Given the description of an element on the screen output the (x, y) to click on. 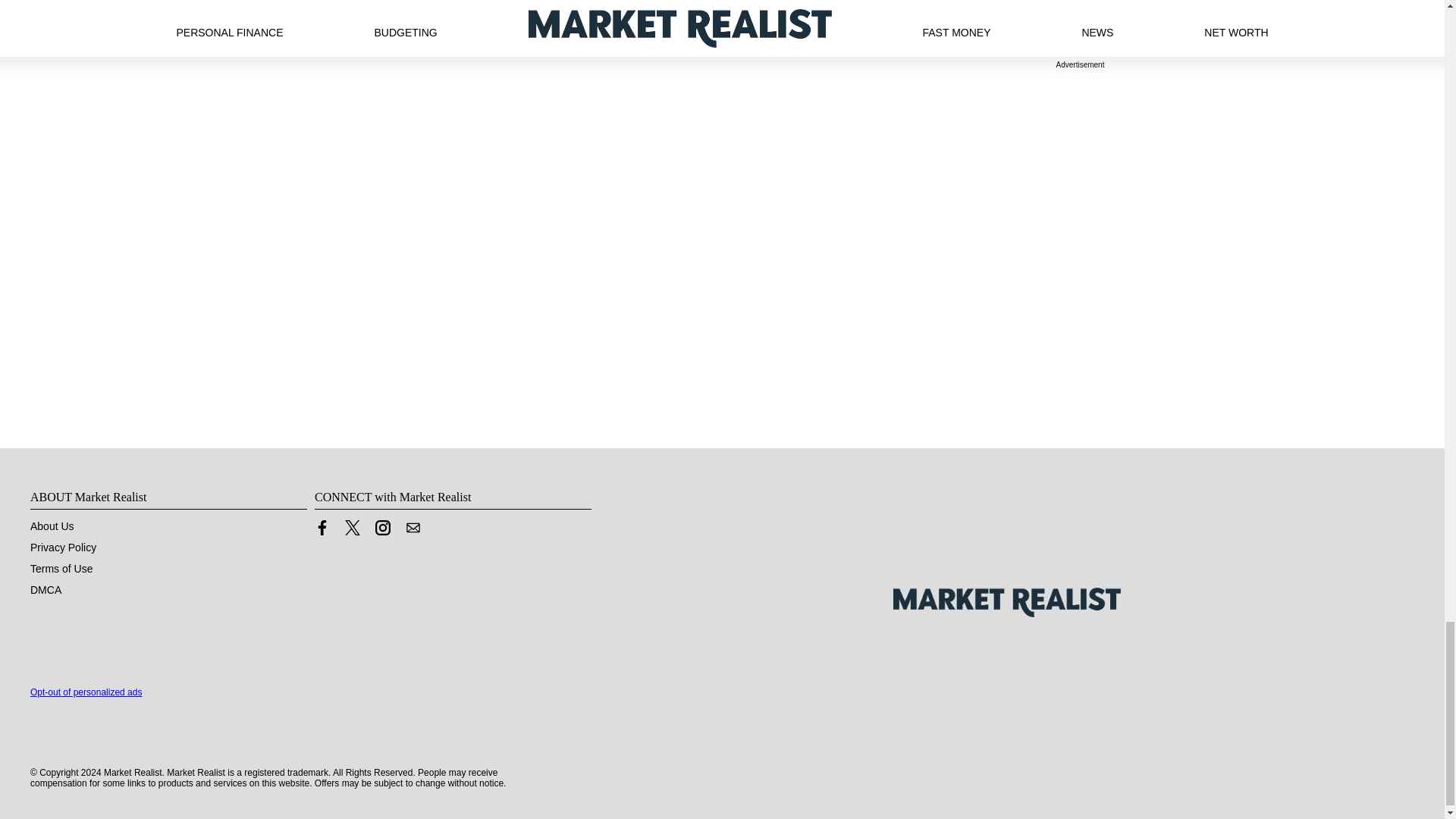
Opt-out of personalized ads (85, 692)
Link to Instagram (382, 531)
About Us (52, 526)
Link to Facebook (322, 527)
Link to X (352, 531)
DMCA (45, 589)
Link to Instagram (382, 527)
Terms of Use (61, 568)
Terms of Use (61, 568)
Contact us by Email (413, 531)
